Given the description of an element on the screen output the (x, y) to click on. 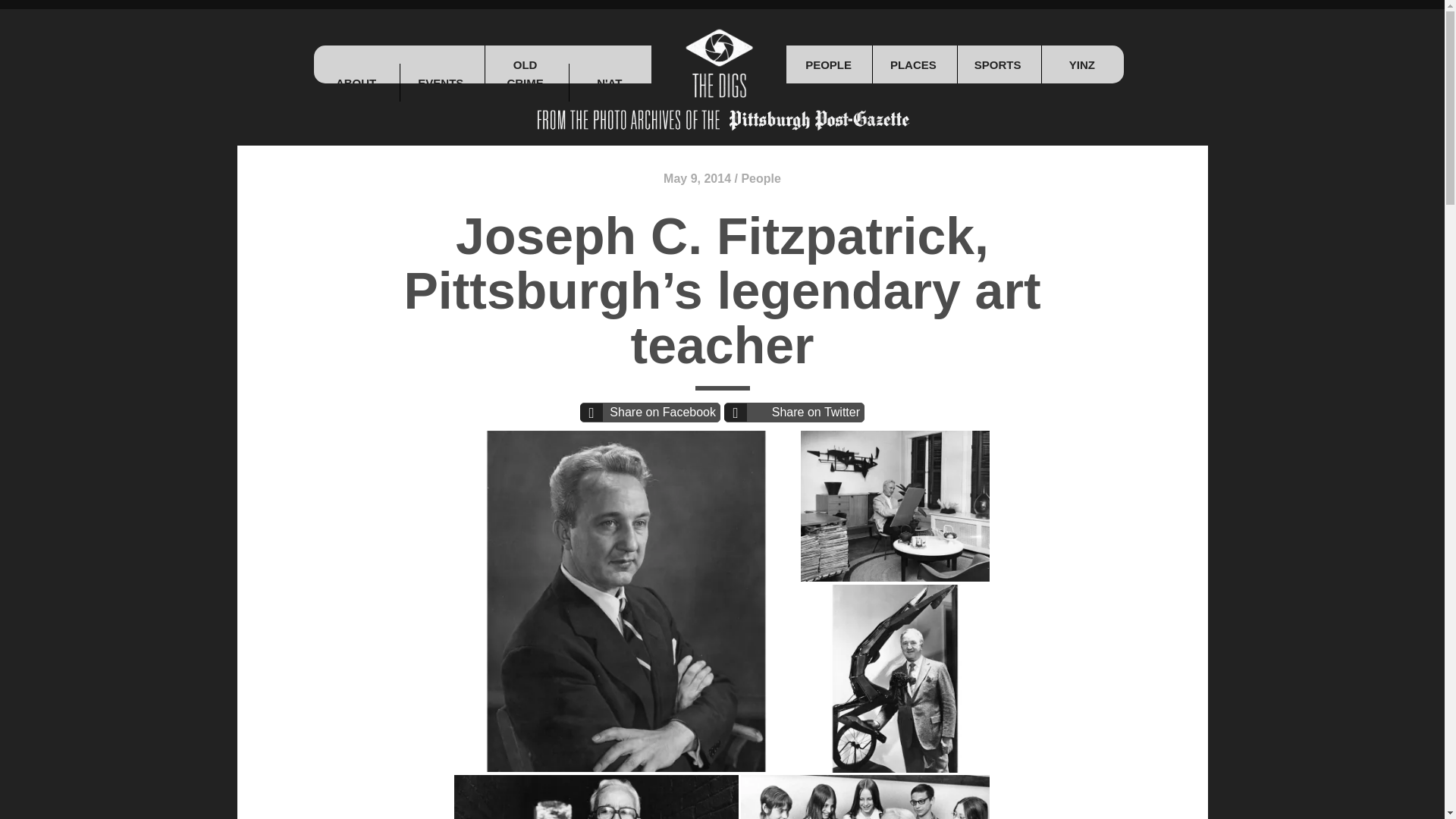
SPORTS (997, 64)
PEOPLE (828, 64)
EVENTS (439, 82)
PLACES (912, 64)
OLD CRIME (525, 82)
ABOUT (355, 82)
N'AT (609, 82)
People (760, 178)
YINZ (1081, 64)
